Given the description of an element on the screen output the (x, y) to click on. 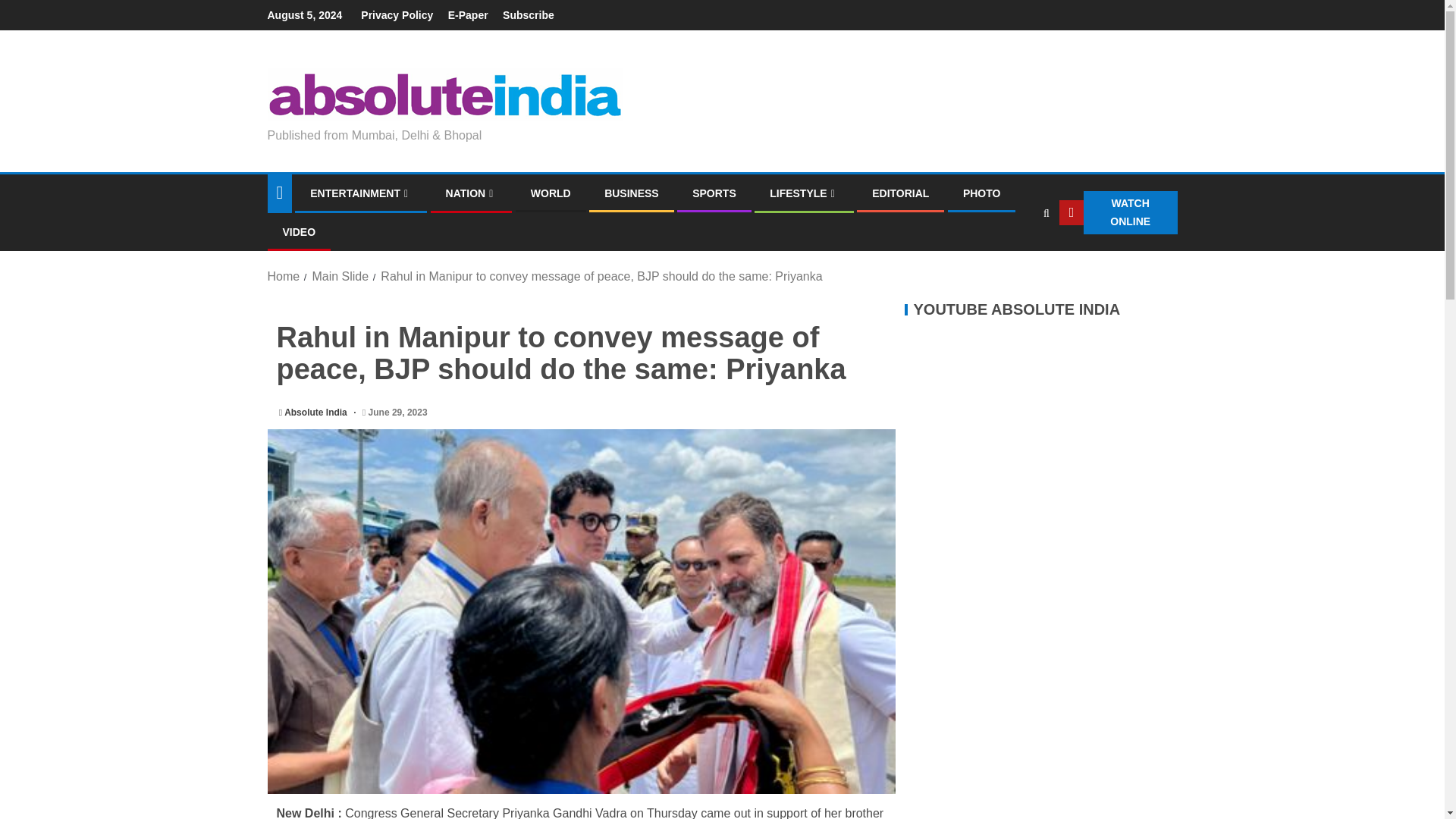
Home (282, 276)
E-Paper (467, 15)
NATION (471, 193)
BUSINESS (631, 193)
LIFESTYLE (804, 193)
Subscribe (528, 15)
Search (1016, 258)
ENTERTAINMENT (361, 193)
Search (1045, 213)
WORLD (550, 193)
EDITORIAL (900, 193)
Absolute India (316, 412)
VIDEO (298, 232)
Privacy Policy (396, 15)
WATCH ONLINE (1118, 212)
